Given the description of an element on the screen output the (x, y) to click on. 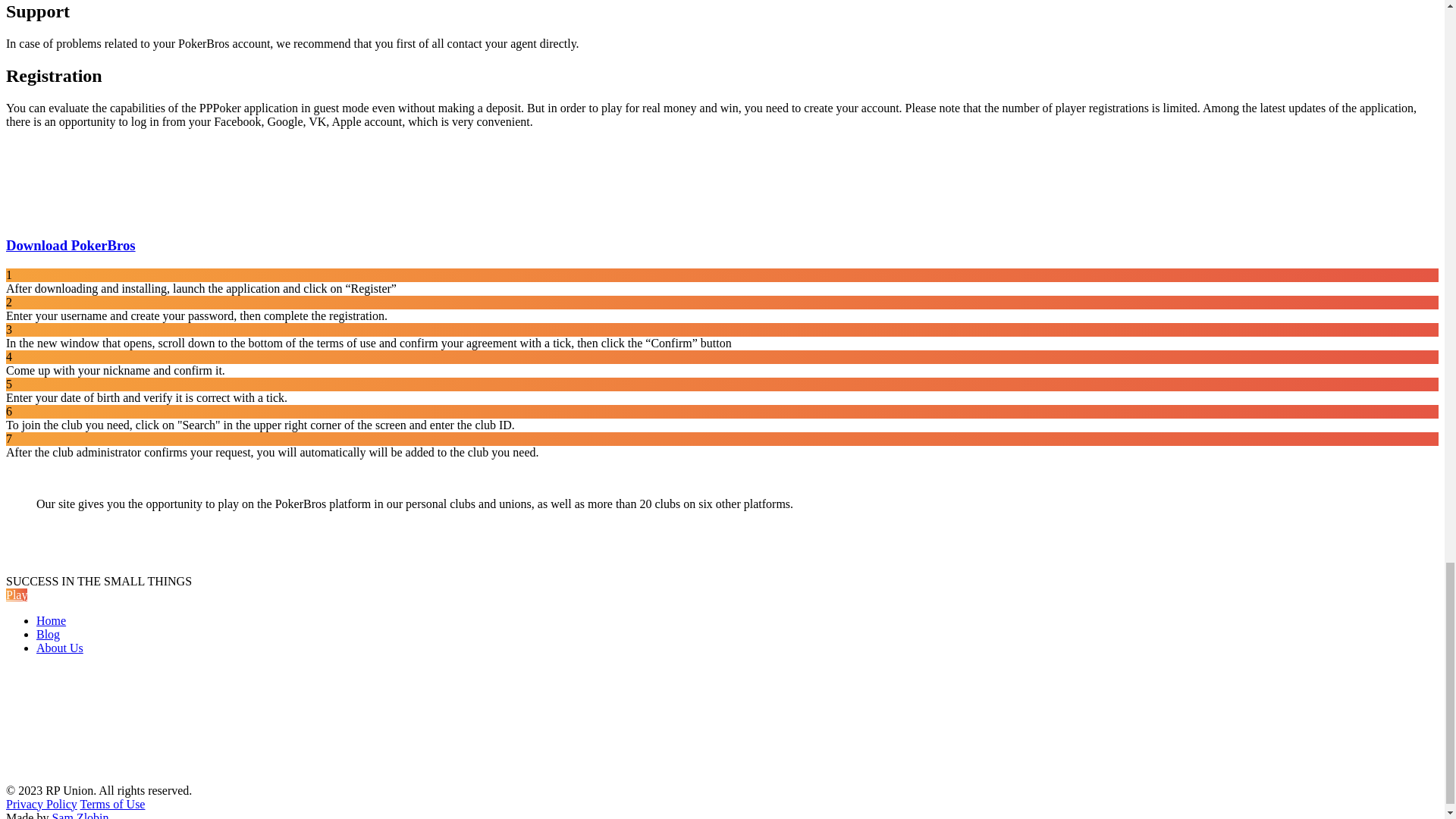
Blog (47, 634)
About Us (59, 647)
Home (50, 620)
Download PokerBros (70, 245)
Terms of Use (112, 803)
Play (16, 594)
Privacy Policy (41, 803)
